Given the description of an element on the screen output the (x, y) to click on. 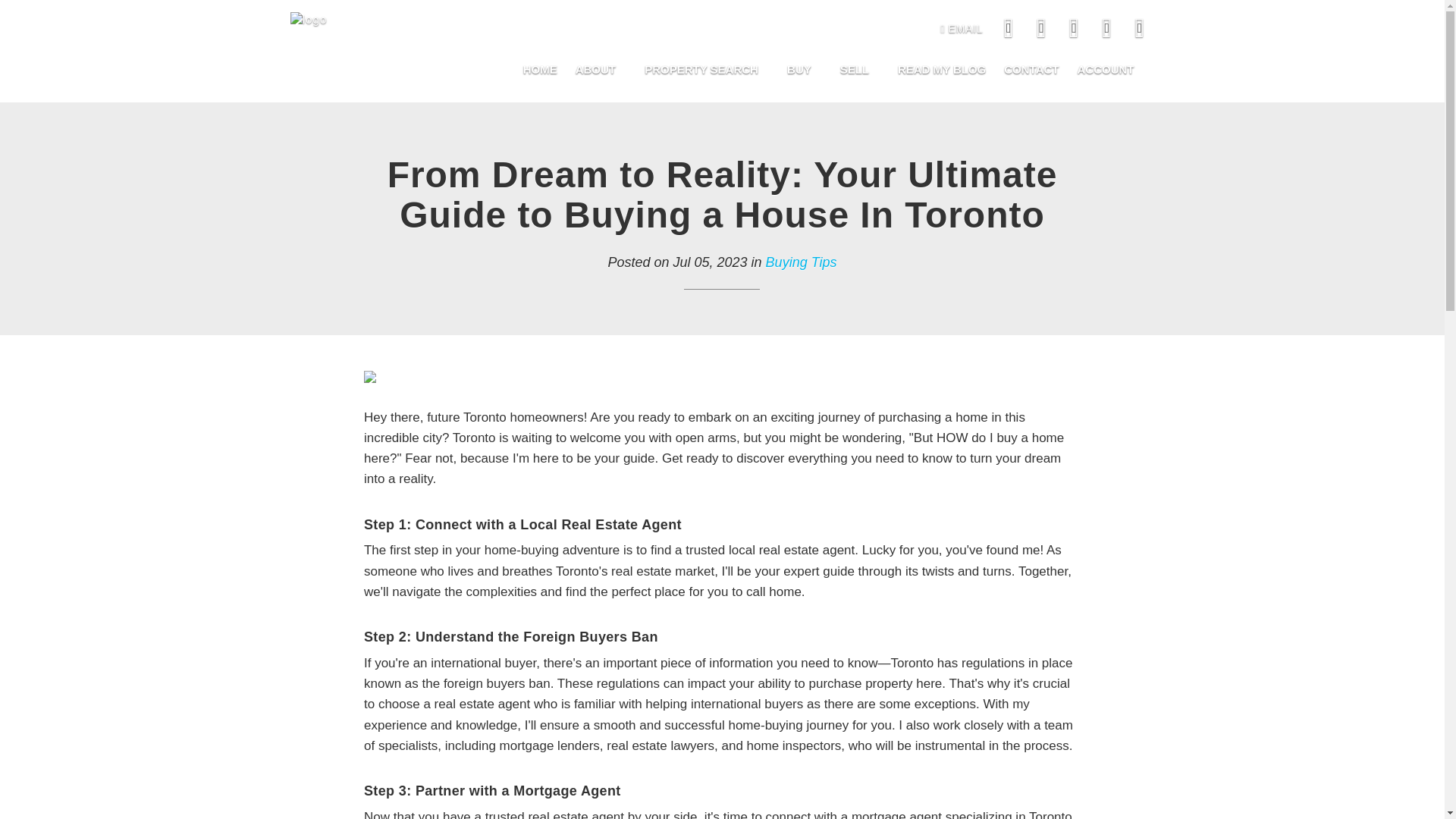
PROPERTY SEARCH (705, 69)
HOME (539, 69)
BUY (804, 69)
CONTACT (1030, 69)
LinkedIn (1075, 28)
EMAIL (961, 28)
Instagram (1042, 28)
YouTube (1139, 28)
ABOUT (601, 69)
ACCOUNT (1104, 69)
Buying Tips (801, 262)
SELL (859, 69)
READ MY BLOG (941, 69)
logo (307, 19)
Facebook (1010, 28)
